Given the description of an element on the screen output the (x, y) to click on. 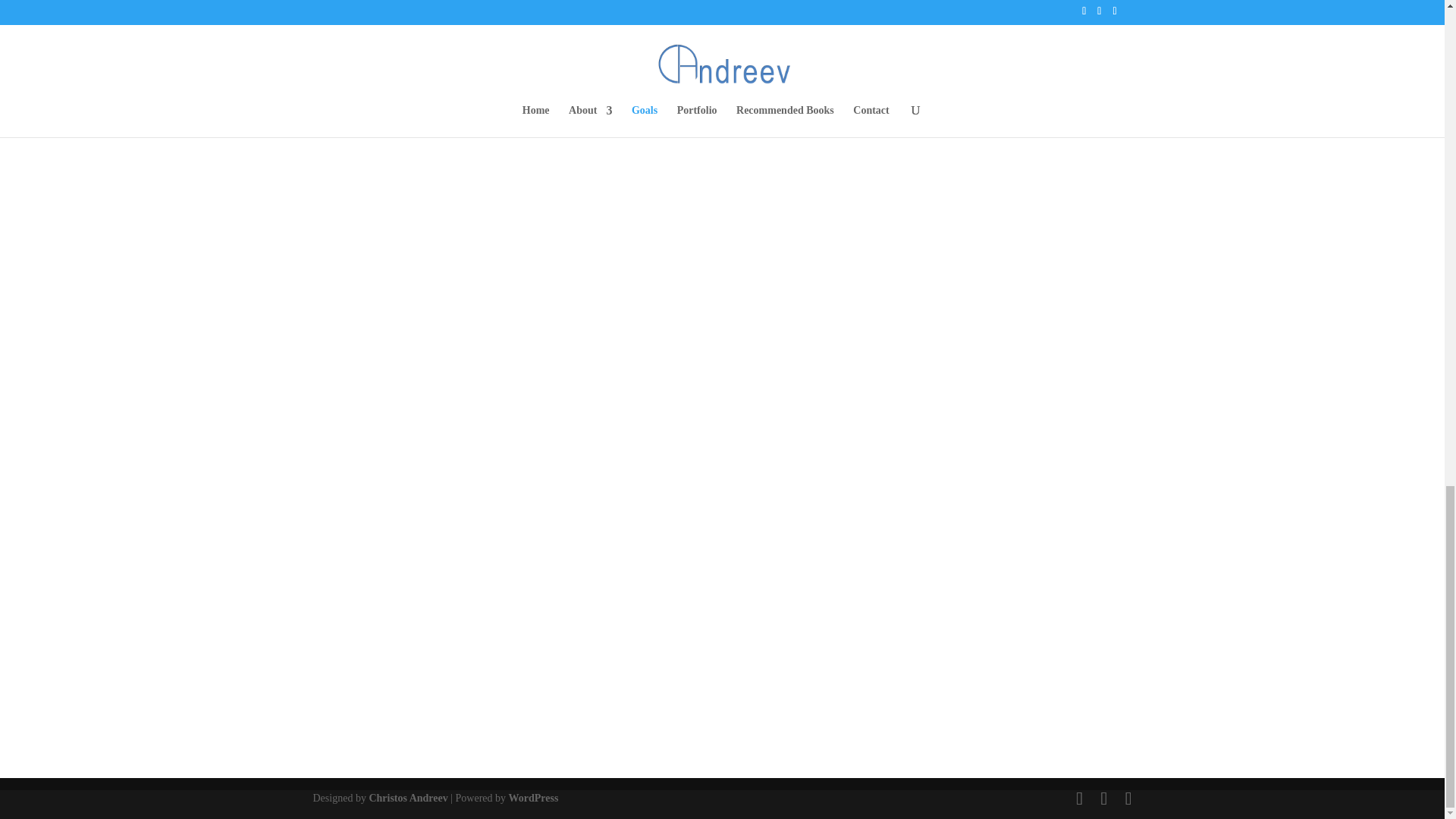
WordPress (533, 797)
Christos Andreev Porftolio Website (407, 797)
Christos Andreev (407, 797)
